Given the description of an element on the screen output the (x, y) to click on. 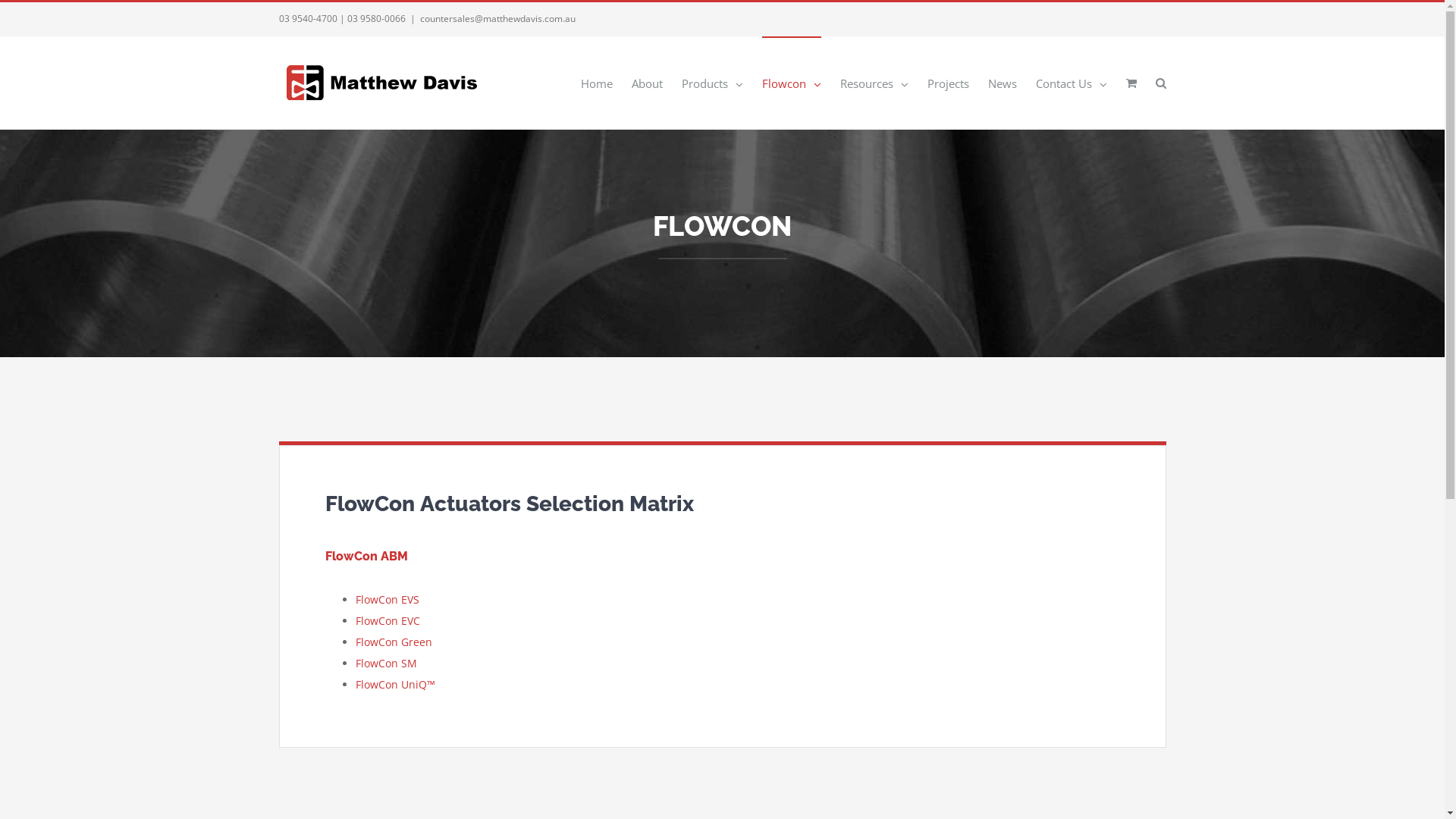
FlowCon EVS Element type: text (386, 599)
Projects Element type: text (947, 82)
FlowCon Green Element type: text (392, 641)
FlowCon EVC Element type: text (386, 620)
FlowCon ABM Element type: text (365, 556)
About Element type: text (646, 82)
Contact Us Element type: text (1071, 82)
Products Element type: text (711, 82)
Search Element type: hover (1160, 82)
FlowCon SM Element type: text (385, 662)
News Element type: text (1001, 82)
Home Element type: text (596, 82)
countersales@matthewdavis.com.au Element type: text (497, 18)
Flowcon Element type: text (790, 82)
Resources Element type: text (874, 82)
